Given the description of an element on the screen output the (x, y) to click on. 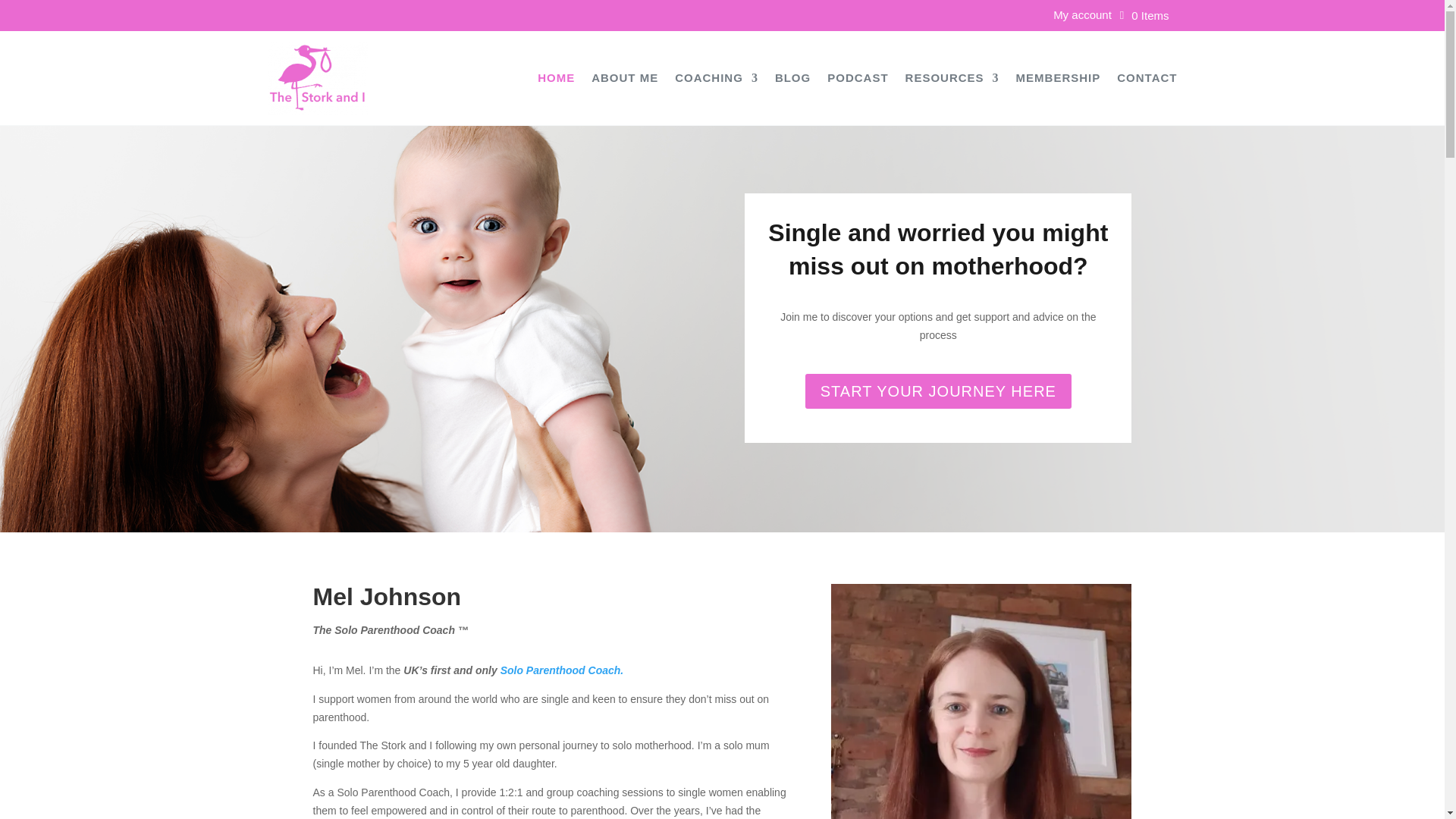
ABOUT ME (624, 80)
COACHING (716, 80)
Mel Johnson - Solo Motherhood Coach (981, 701)
START YOUR JOURNEY HERE (938, 390)
RESOURCES (951, 80)
PODCAST (857, 80)
My account (1082, 17)
MEMBERSHIP (1058, 80)
BLOG (792, 80)
0 Items (1144, 15)
Solo Parenthood Coach. (562, 670)
HOME (556, 80)
CONTACT (1146, 80)
logo-transparent-e1632932573421 (317, 77)
